Given the description of an element on the screen output the (x, y) to click on. 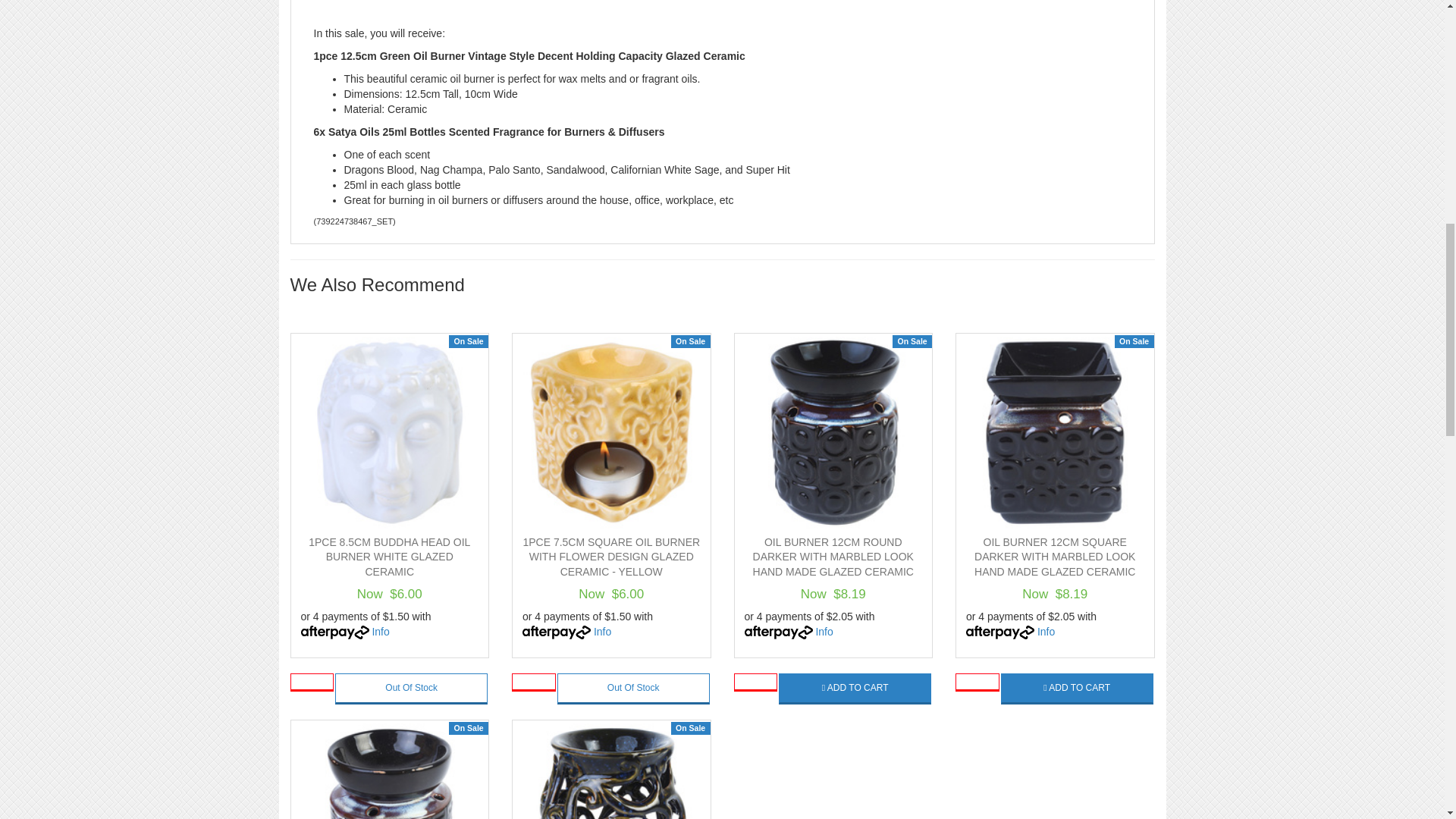
Notify Me When Back In Stock (633, 688)
Add to Cart (1077, 688)
1pce 8.5cm Buddha Head Oil Burner White Glazed Ceramic (389, 557)
Notify Me When Back In Stock (410, 688)
Add to Cart (854, 688)
